Given the description of an element on the screen output the (x, y) to click on. 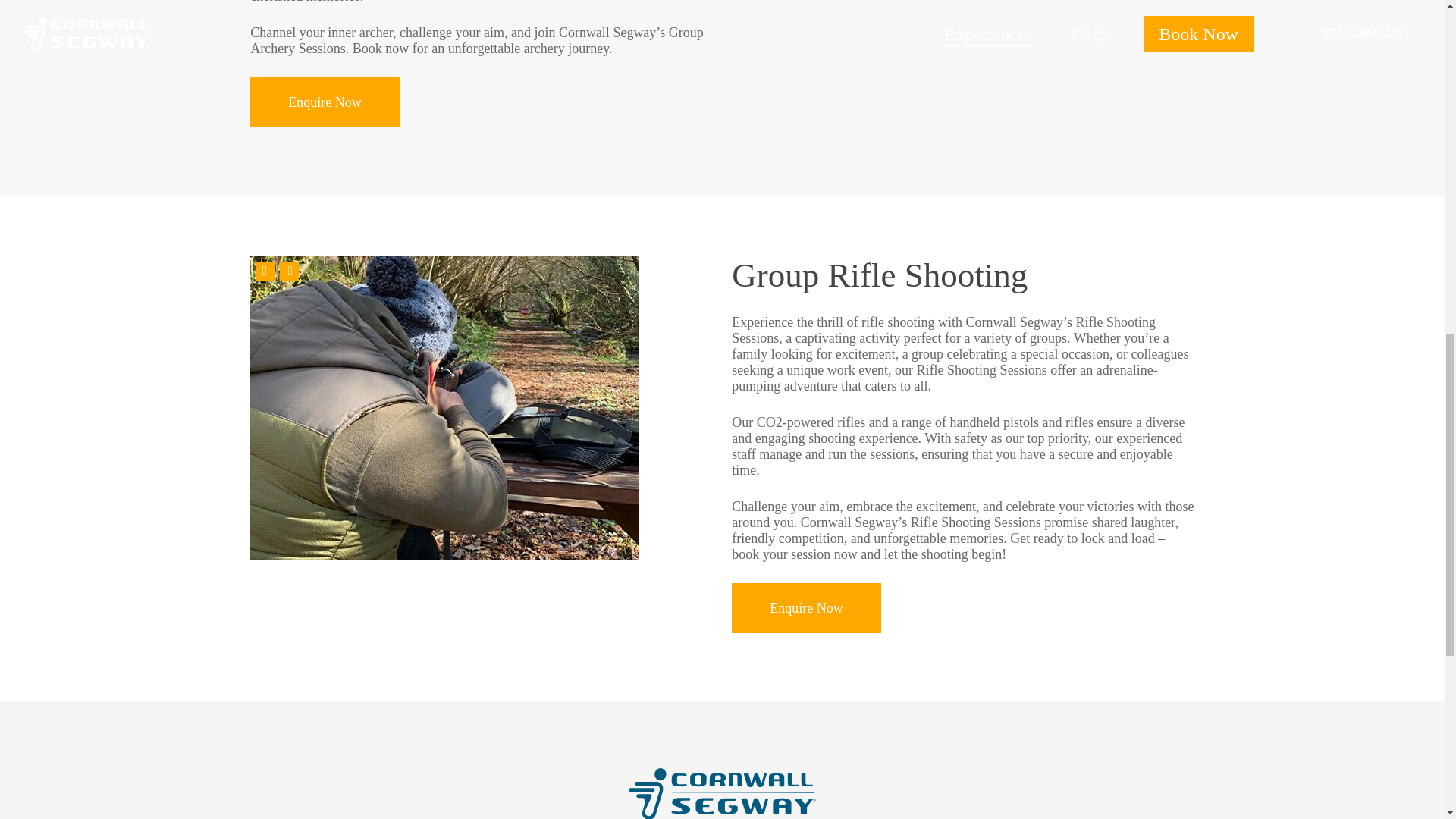
Enquire Now (324, 101)
Enquire Now (806, 608)
rifle-shooting-in-cornwall (444, 407)
